Given the description of an element on the screen output the (x, y) to click on. 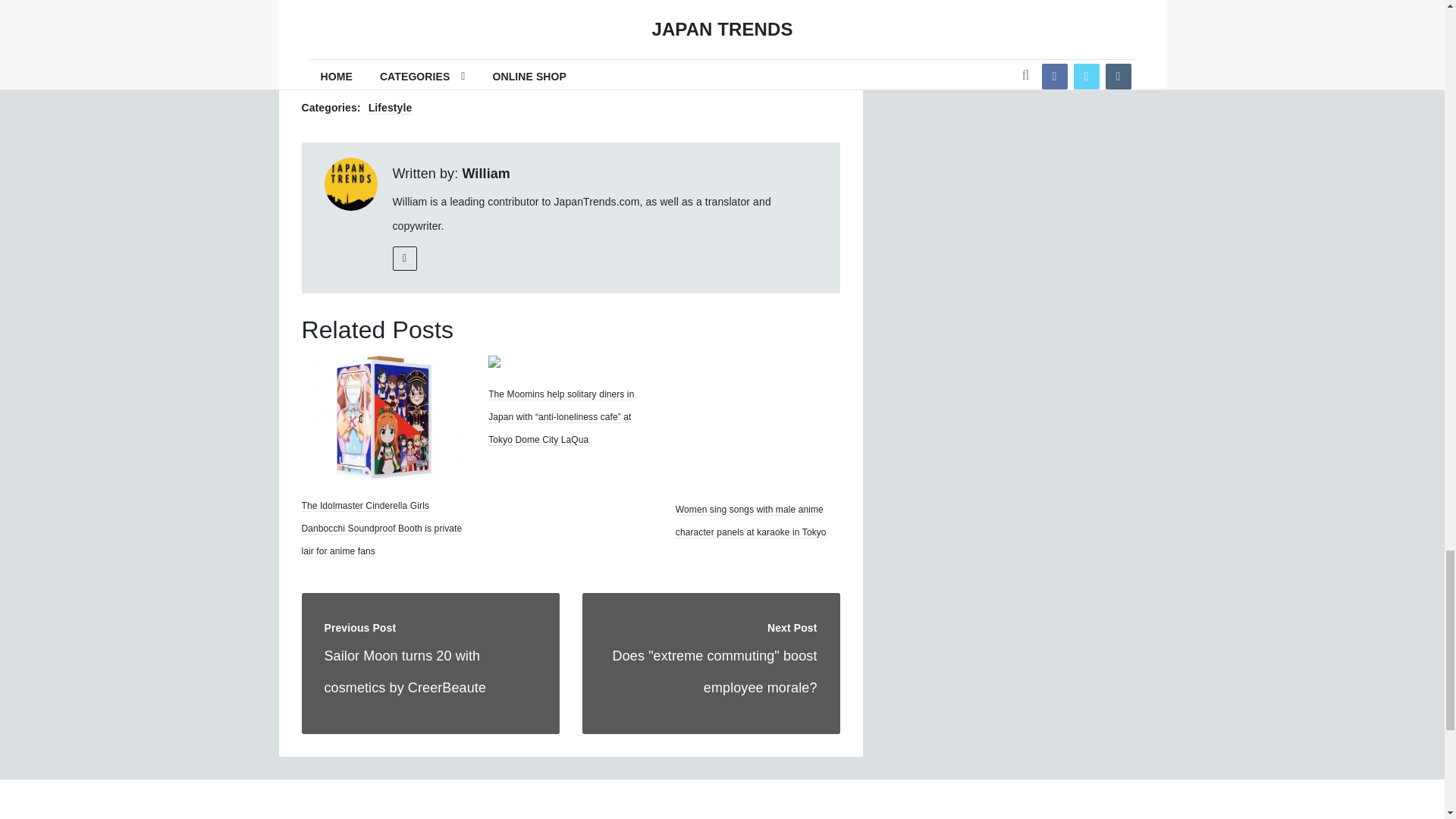
Food (349, 74)
Solo culture (399, 74)
Share to Facebook (711, 662)
Tweet to Twitter (386, 38)
William (469, 38)
Lifestyle (486, 173)
